Given the description of an element on the screen output the (x, y) to click on. 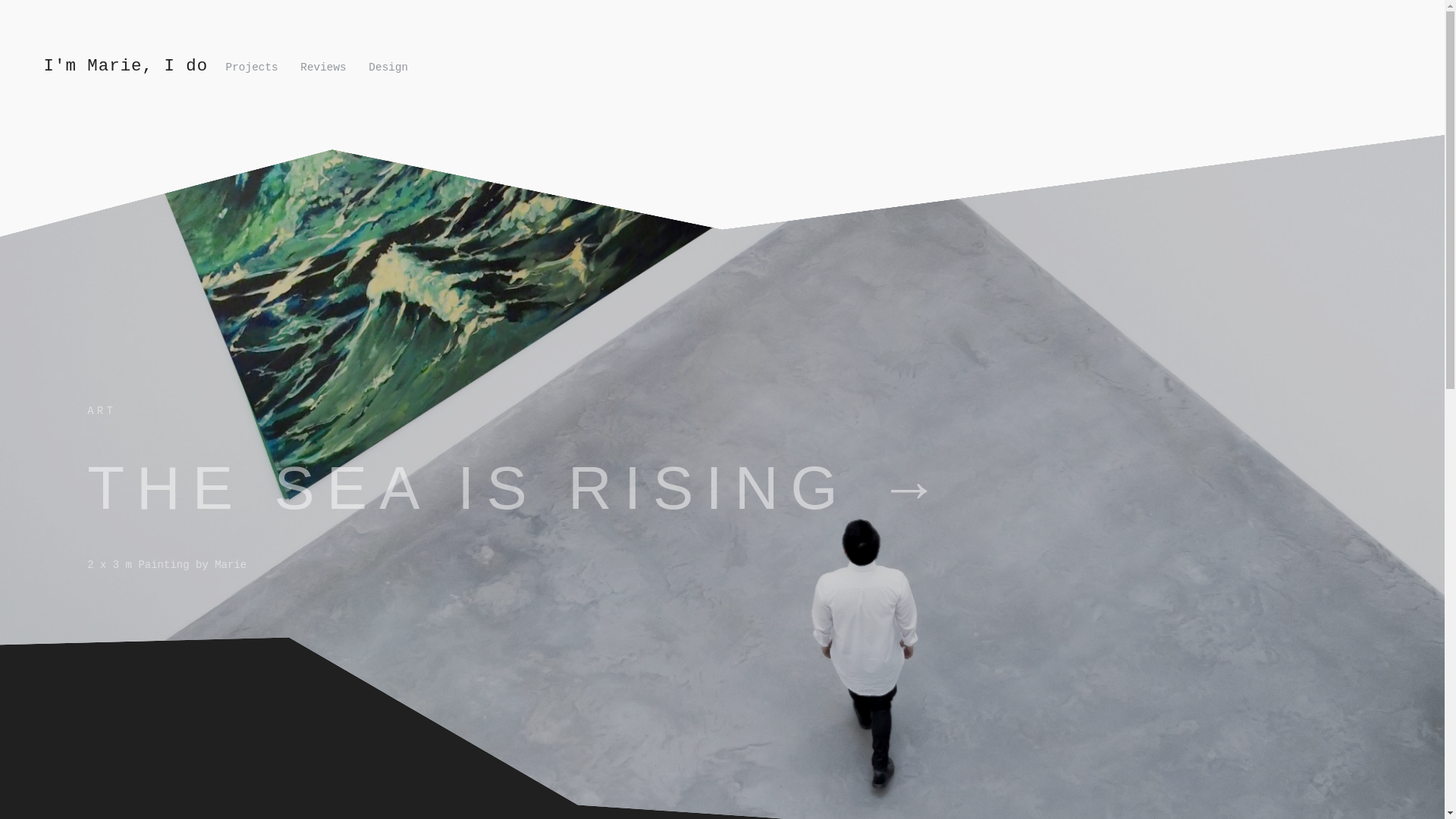
Projects (251, 67)
I'm Marie, I do (130, 65)
Reviews (322, 67)
Design (387, 67)
